Given the description of an element on the screen output the (x, y) to click on. 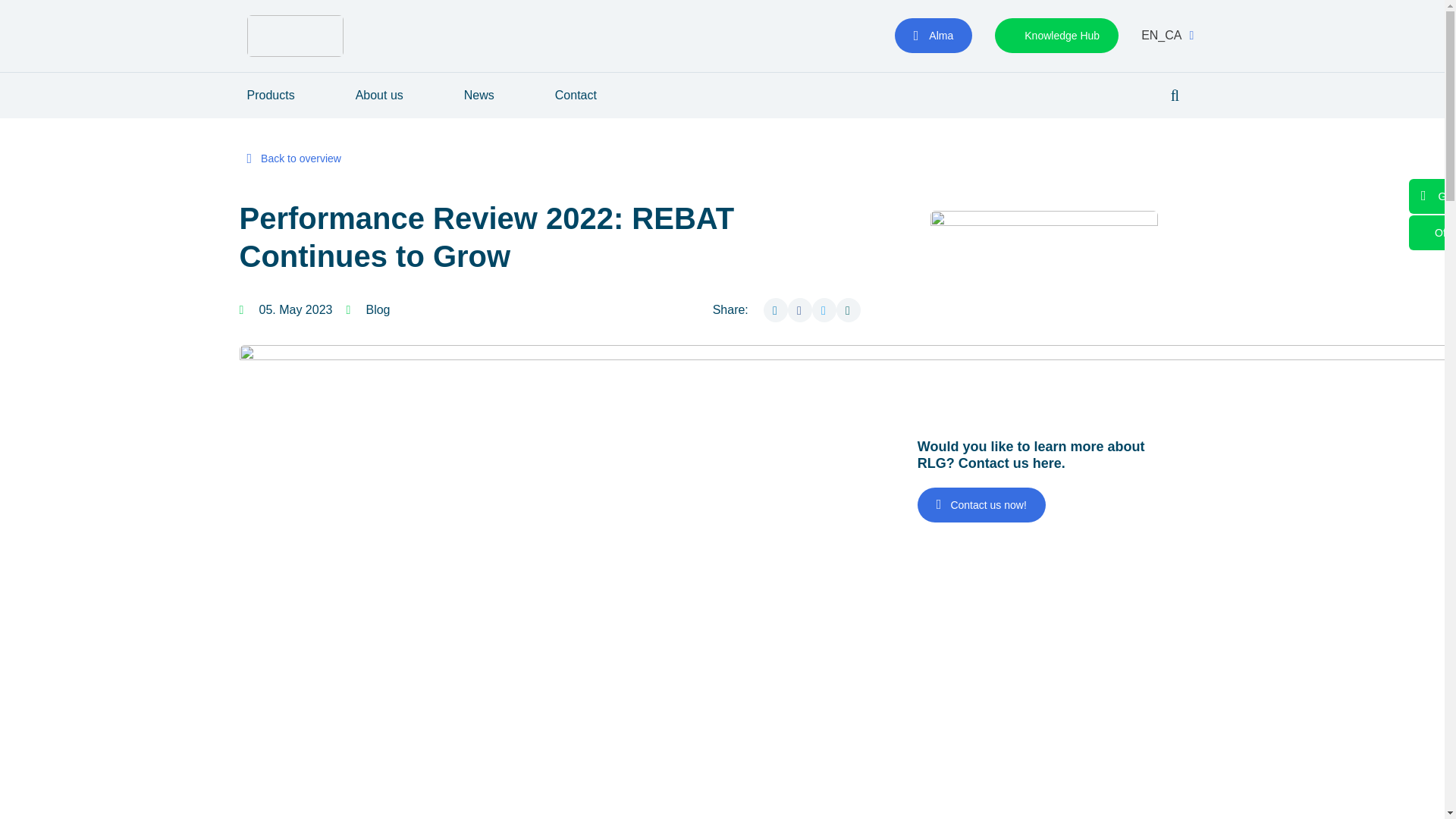
Knowledge Hub (1056, 35)
Alma (933, 35)
